Given the description of an element on the screen output the (x, y) to click on. 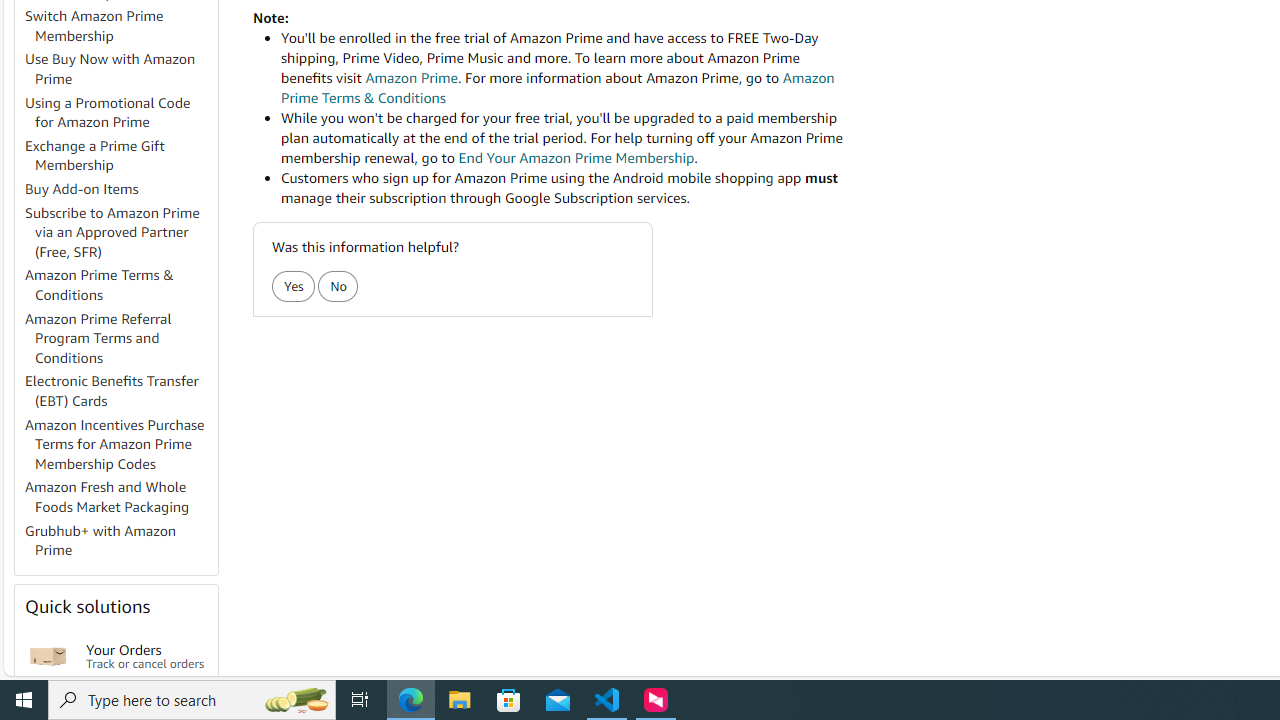
Yes (292, 286)
Using a Promotional Code for Amazon Prime (120, 112)
Grubhub+ with Amazon Prime (100, 540)
Grubhub+ with Amazon Prime (120, 540)
Amazon Prime Terms & Conditions (99, 284)
Your Orders (48, 655)
End Your Amazon Prime Membership (576, 158)
Amazon Fresh and Whole Foods Market Packaging (107, 497)
Exchange a Prime Gift Membership (95, 155)
Amazon Prime Referral Program Terms and Conditions (98, 337)
Buy Add-on Items (120, 190)
Amazon Prime Terms & Conditions (120, 285)
